Given the description of an element on the screen output the (x, y) to click on. 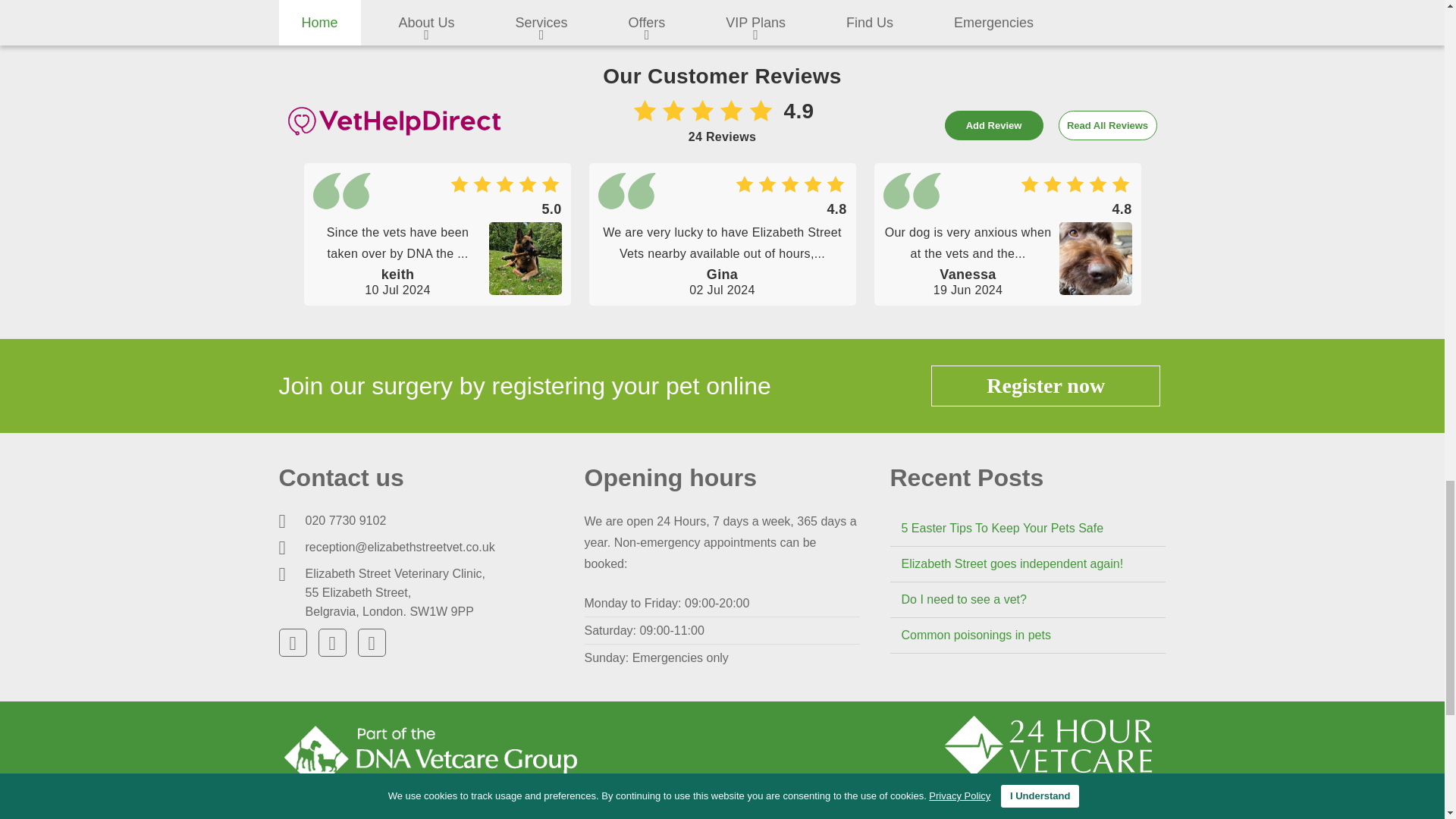
Instagram (371, 642)
Facebook (293, 642)
YouTube (332, 642)
